Given the description of an element on the screen output the (x, y) to click on. 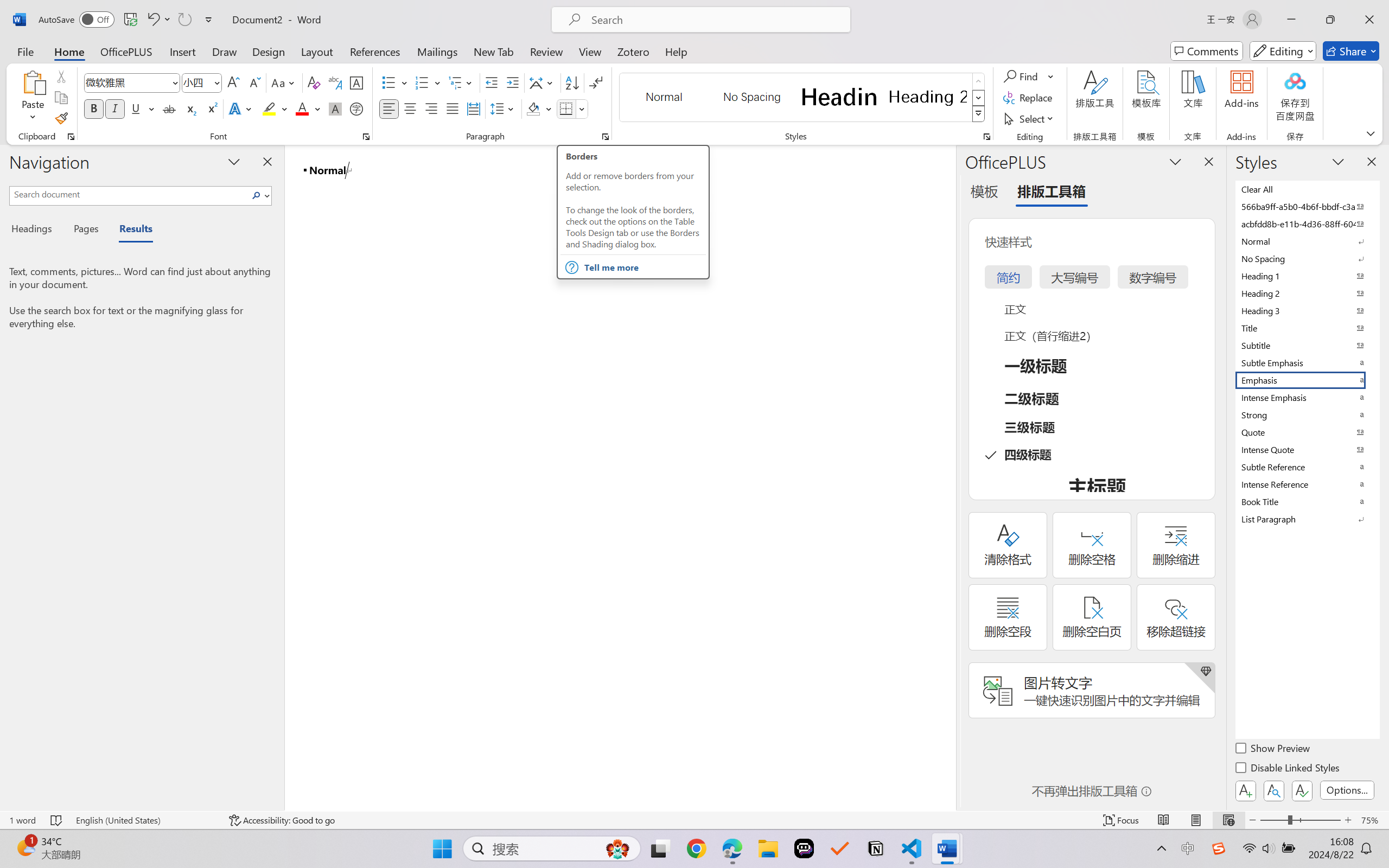
File Tab (24, 51)
Clear Formatting (313, 82)
Superscript (210, 108)
Strong (1306, 414)
Multilevel List (461, 82)
Accessibility Checker Accessibility: Good to go (282, 819)
Font Size (196, 82)
Class: Image (1218, 847)
Show/Hide Editing Marks (595, 82)
Format Painter (60, 118)
Align Left (388, 108)
